Given the description of an element on the screen output the (x, y) to click on. 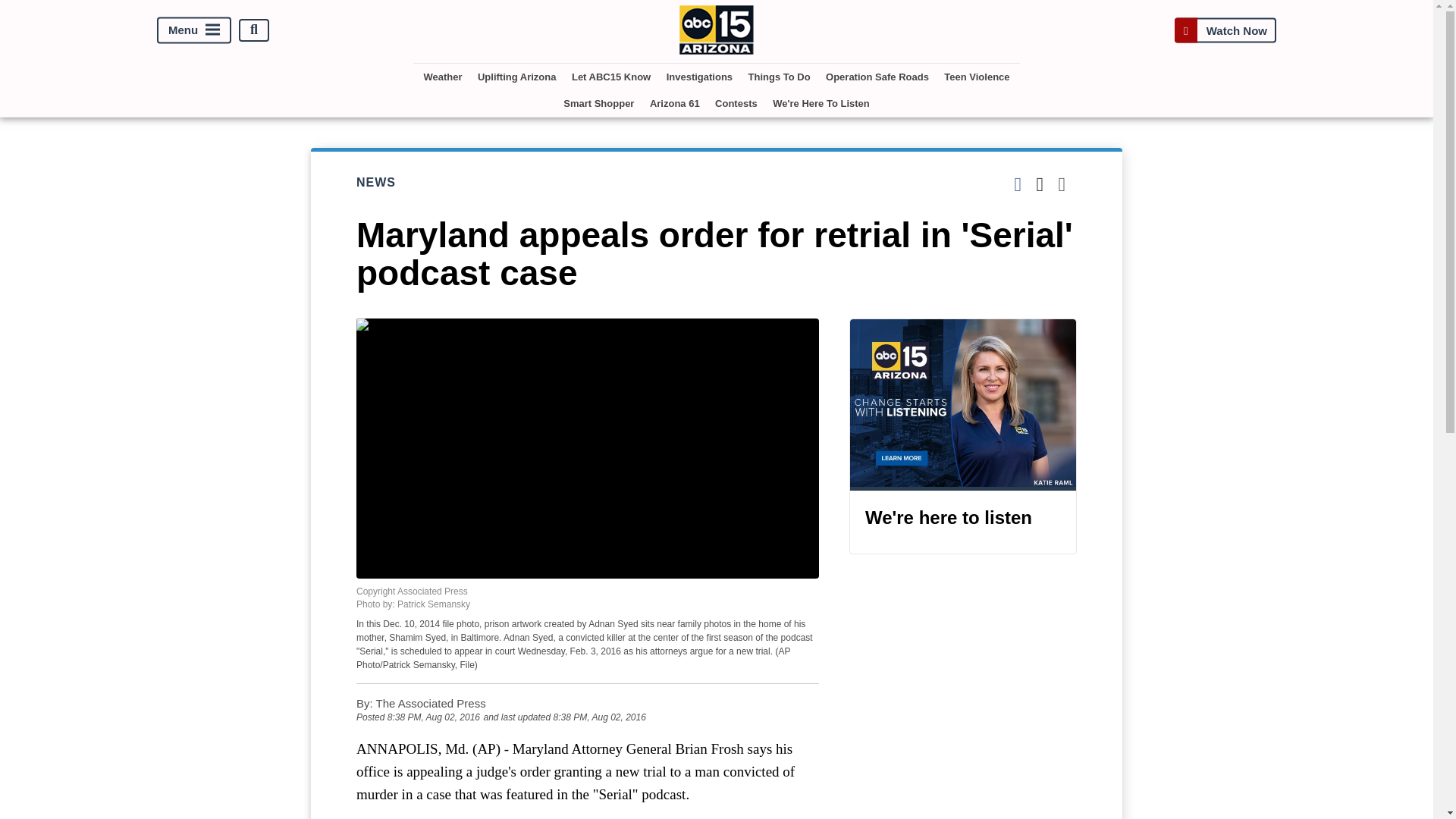
Menu (194, 29)
Watch Now (1224, 29)
